Given the description of an element on the screen output the (x, y) to click on. 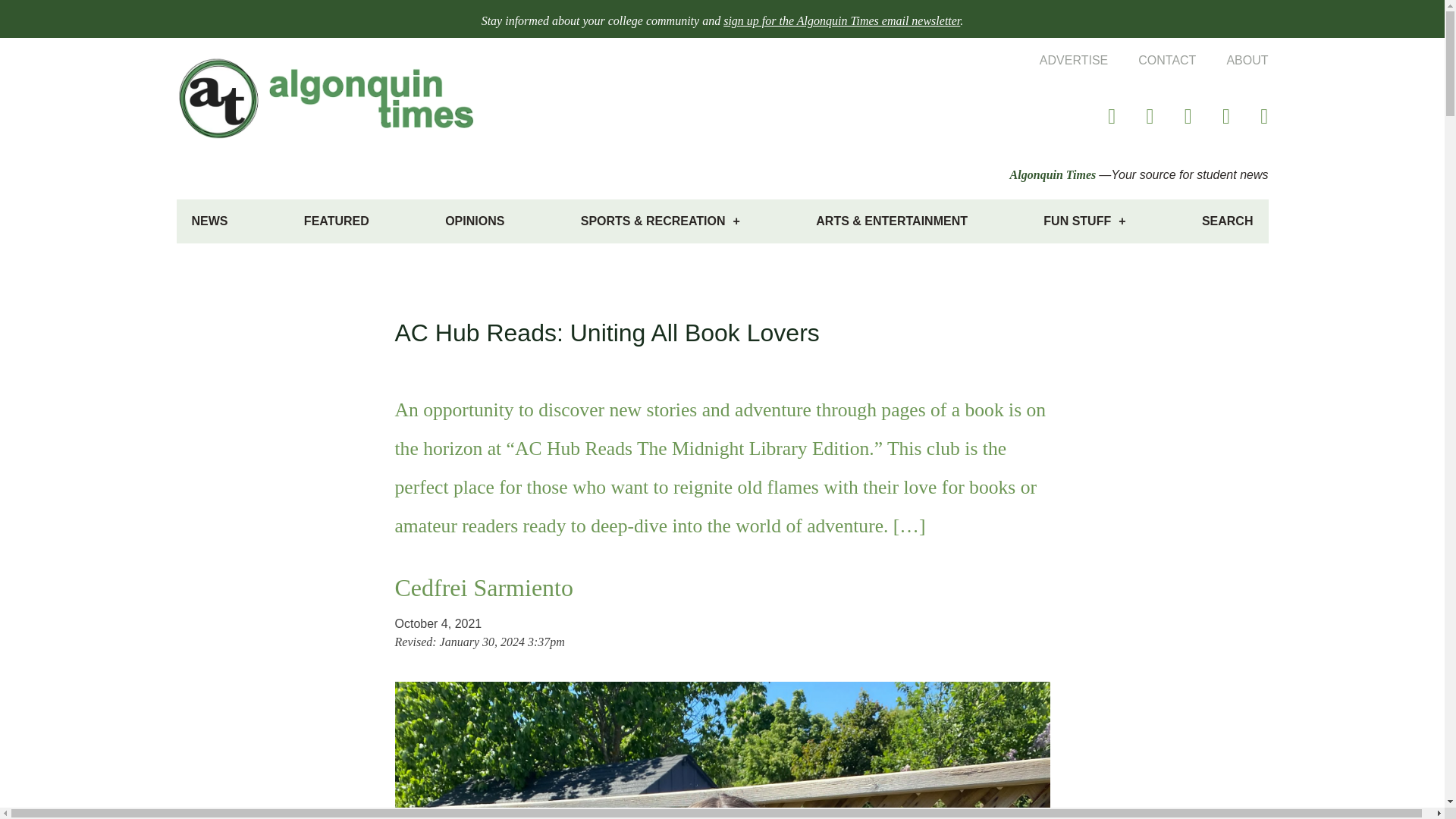
ABOUT (1231, 60)
CONTACT (1151, 60)
Algonquin Times' Youtube account (1249, 115)
FEATURED (336, 221)
sign up for the Algonquin Times email newsletter (841, 20)
Algonquin Times (1053, 174)
SEARCH (1227, 221)
OPINIONS (474, 221)
Algonquin Times' Twitter account (1096, 115)
NEWS (209, 221)
